Given the description of an element on the screen output the (x, y) to click on. 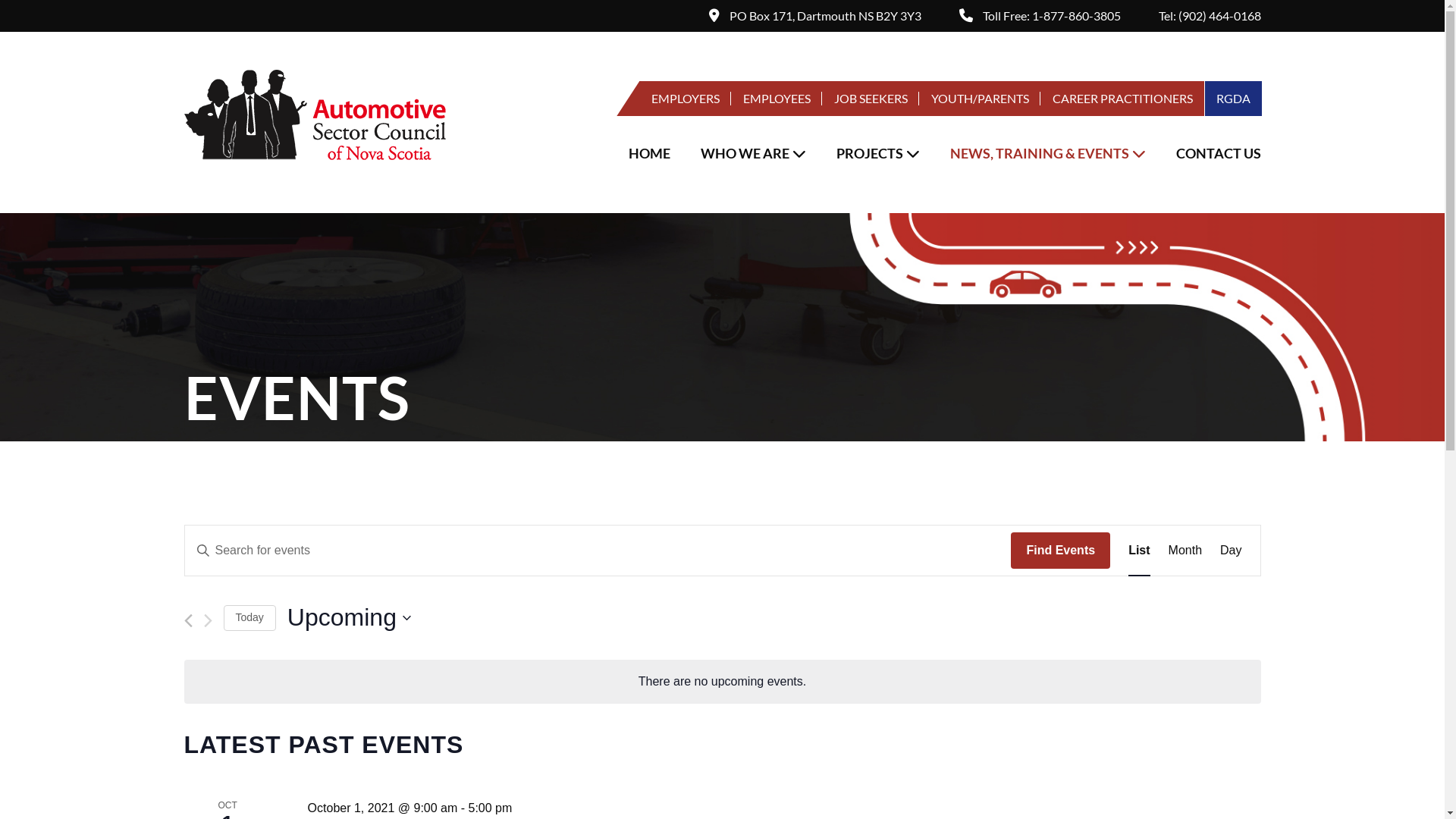
Next Events Element type: hover (207, 620)
List Element type: text (1138, 550)
PROJECTS Element type: text (877, 153)
(902) 464-0168 Element type: text (1219, 15)
RGDA Element type: text (1232, 98)
CONTACT US Element type: text (1210, 153)
NEWS, TRAINING & EVENTS Element type: text (1047, 153)
Month Element type: text (1184, 550)
Day Element type: text (1230, 550)
EMPLOYERS Element type: text (685, 98)
HOME Element type: text (648, 153)
Upcoming Element type: text (349, 617)
Previous Events Element type: hover (187, 620)
YOUTH/PARENTS Element type: text (979, 98)
EMPLOYEES Element type: text (776, 98)
JOB SEEKERS Element type: text (870, 98)
Find Events Element type: text (1060, 550)
WHO WE ARE Element type: text (753, 153)
Today Element type: text (248, 617)
1-877-860-3805 Element type: text (1075, 15)
CAREER PRACTITIONERS Element type: text (1121, 98)
